Given the description of an element on the screen output the (x, y) to click on. 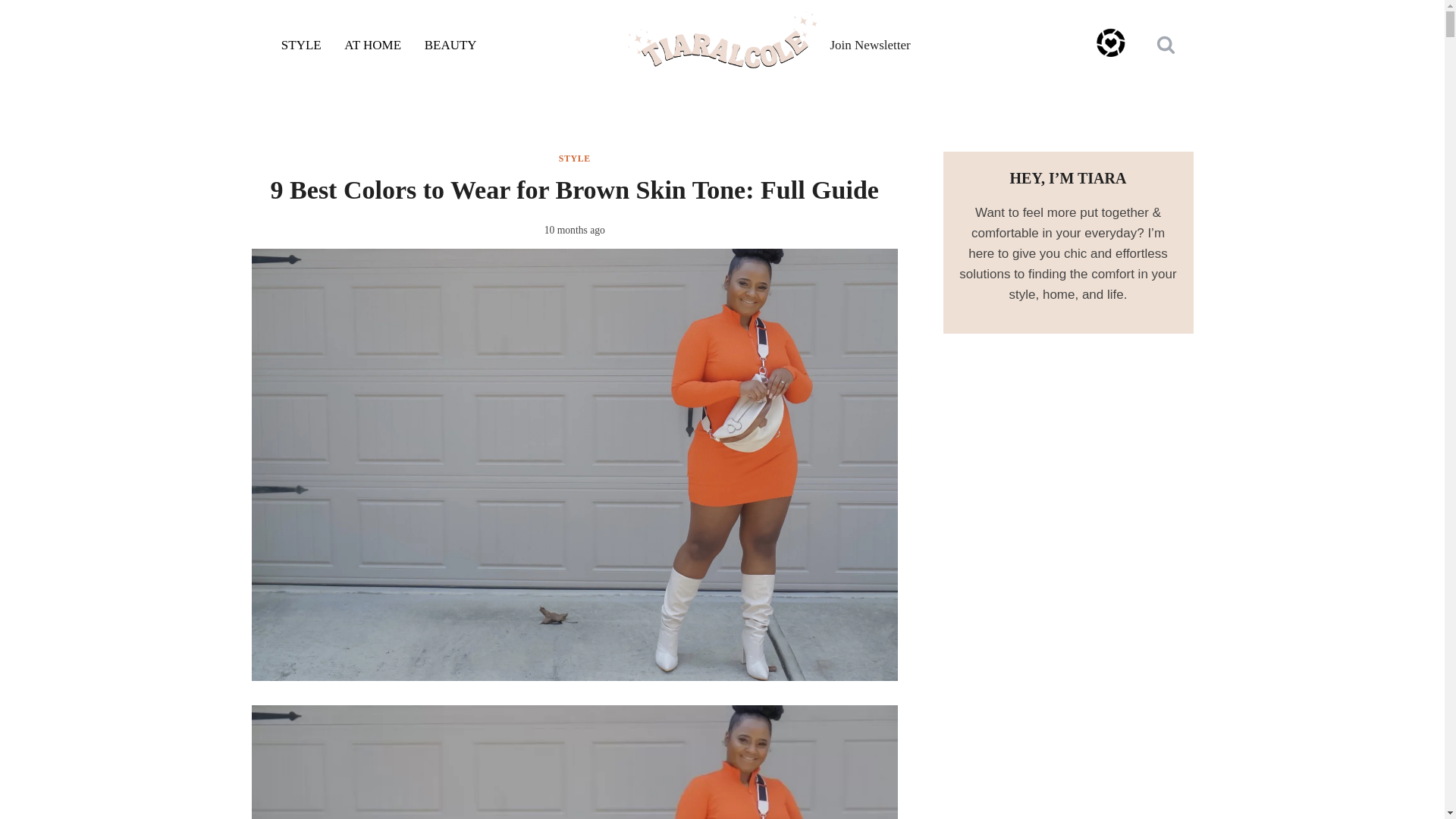
STYLE (301, 45)
STYLE (575, 158)
Join Newsletter (869, 44)
BEAUTY (449, 45)
AT HOME (372, 45)
